Given the description of an element on the screen output the (x, y) to click on. 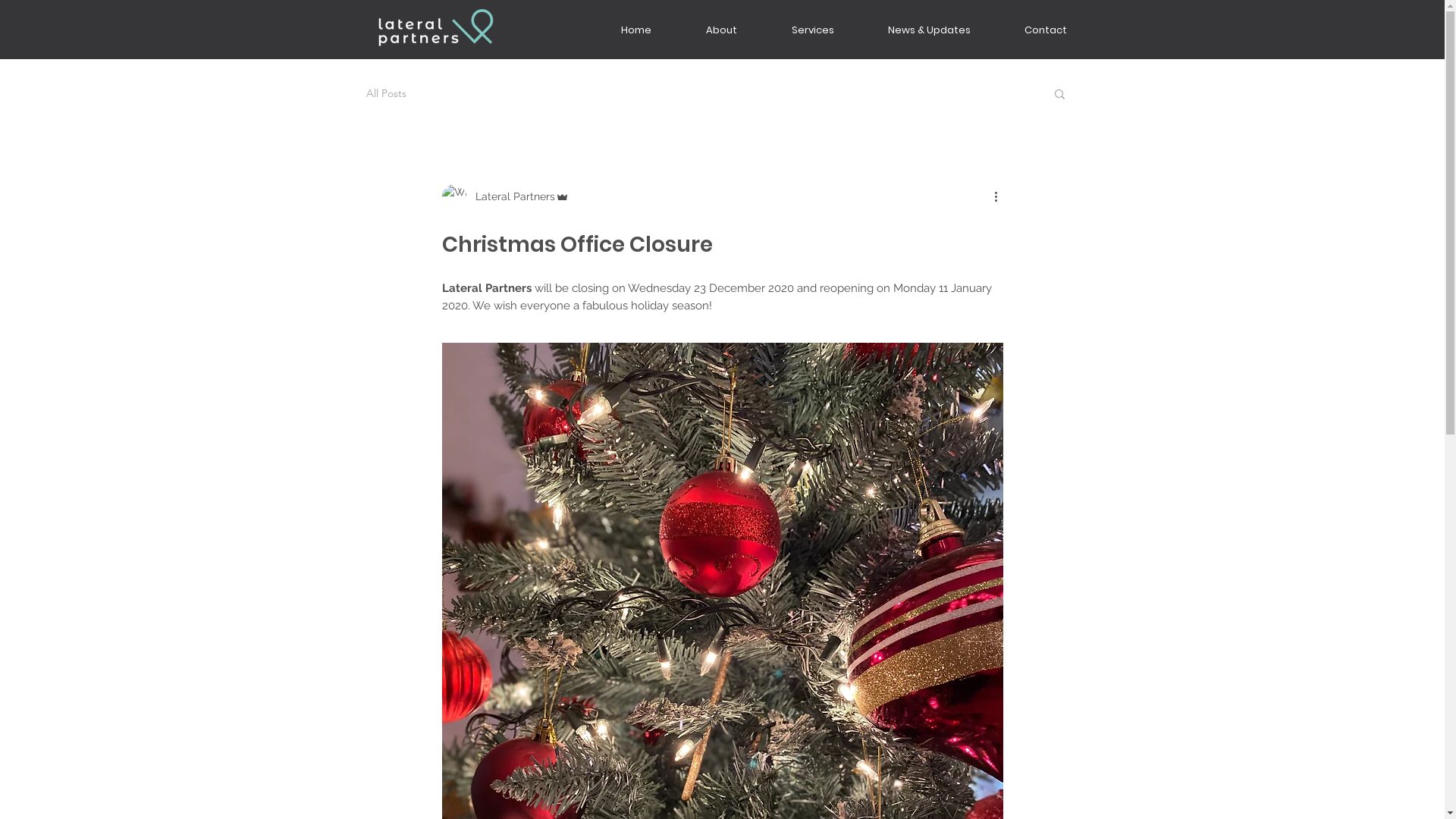
Contact Element type: text (1045, 29)
Home Element type: text (635, 29)
LATERAL ( White background Transparent   Element type: hover (435, 27)
News & Updates Element type: text (929, 29)
All Posts Element type: text (385, 93)
About Element type: text (720, 29)
Services Element type: text (812, 29)
Lateral Partners Element type: text (504, 196)
